Given the description of an element on the screen output the (x, y) to click on. 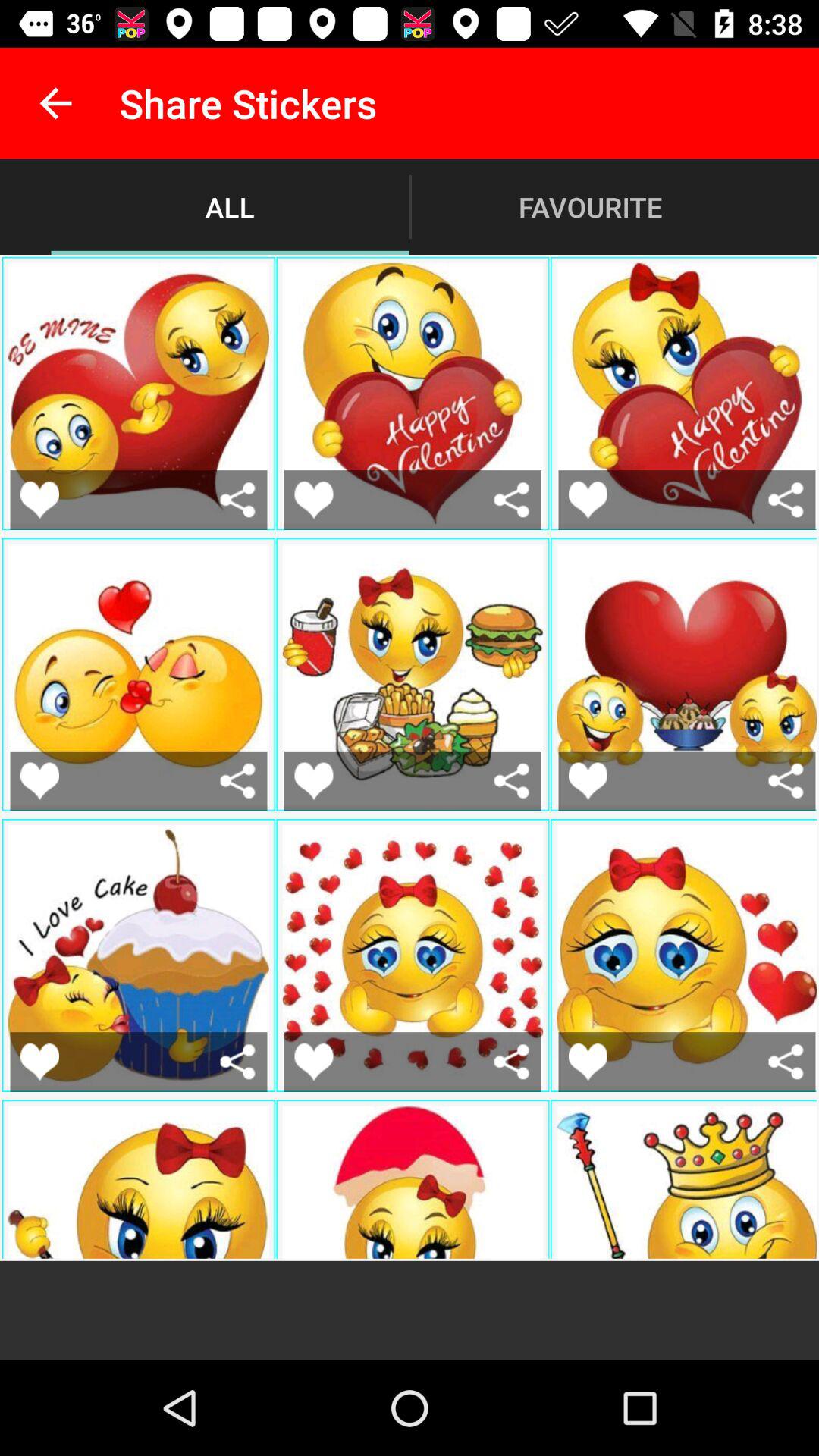
share sticker (511, 780)
